Given the description of an element on the screen output the (x, y) to click on. 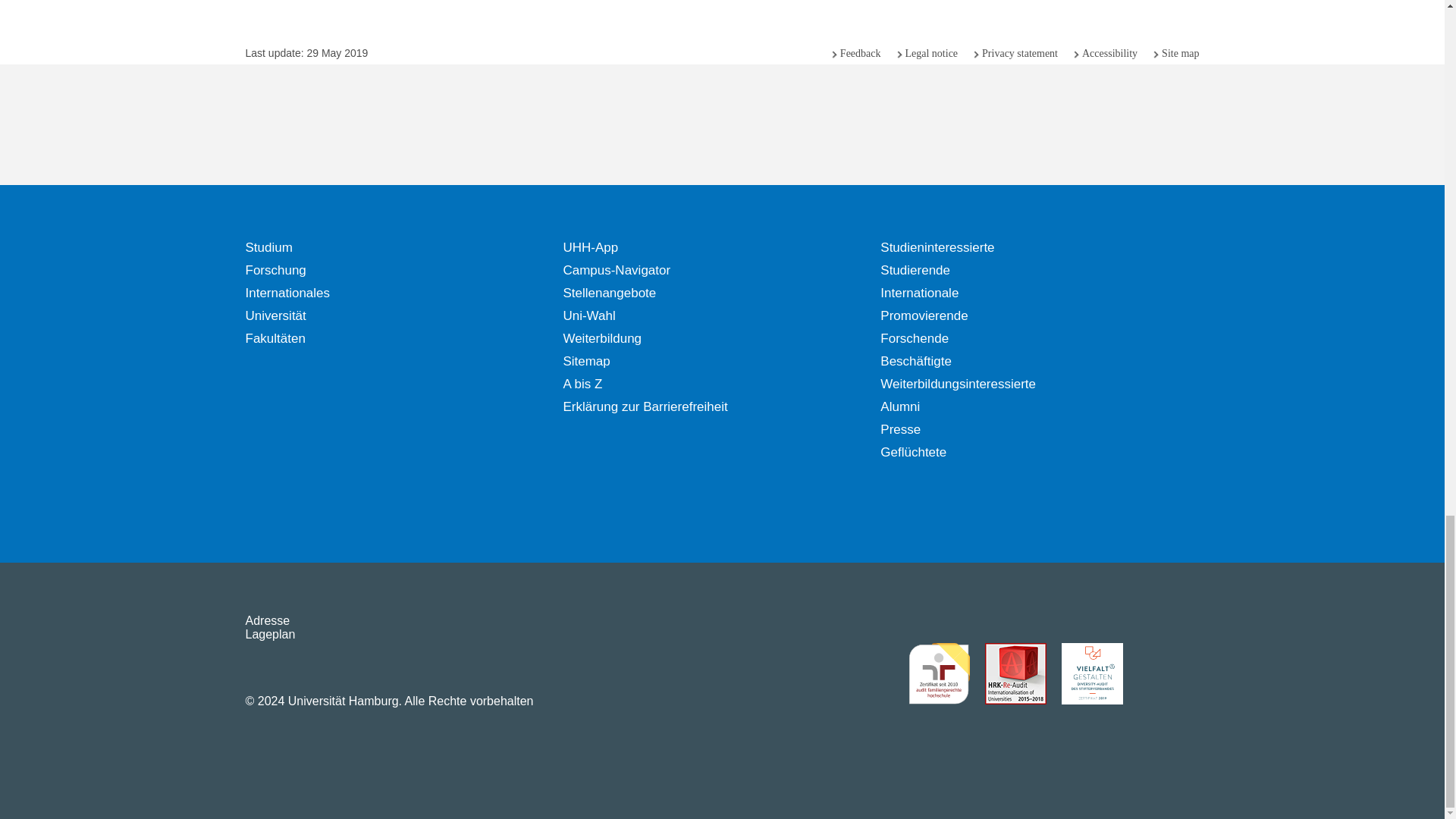
Zur Seite Audit familiengerechte Hochschule (938, 673)
Zur Seite Systemakkreditierung (1167, 673)
Zur Seite Diversity-Audit (1091, 673)
Zur Seite Audit Internationalisierung (1014, 673)
